Given the description of an element on the screen output the (x, y) to click on. 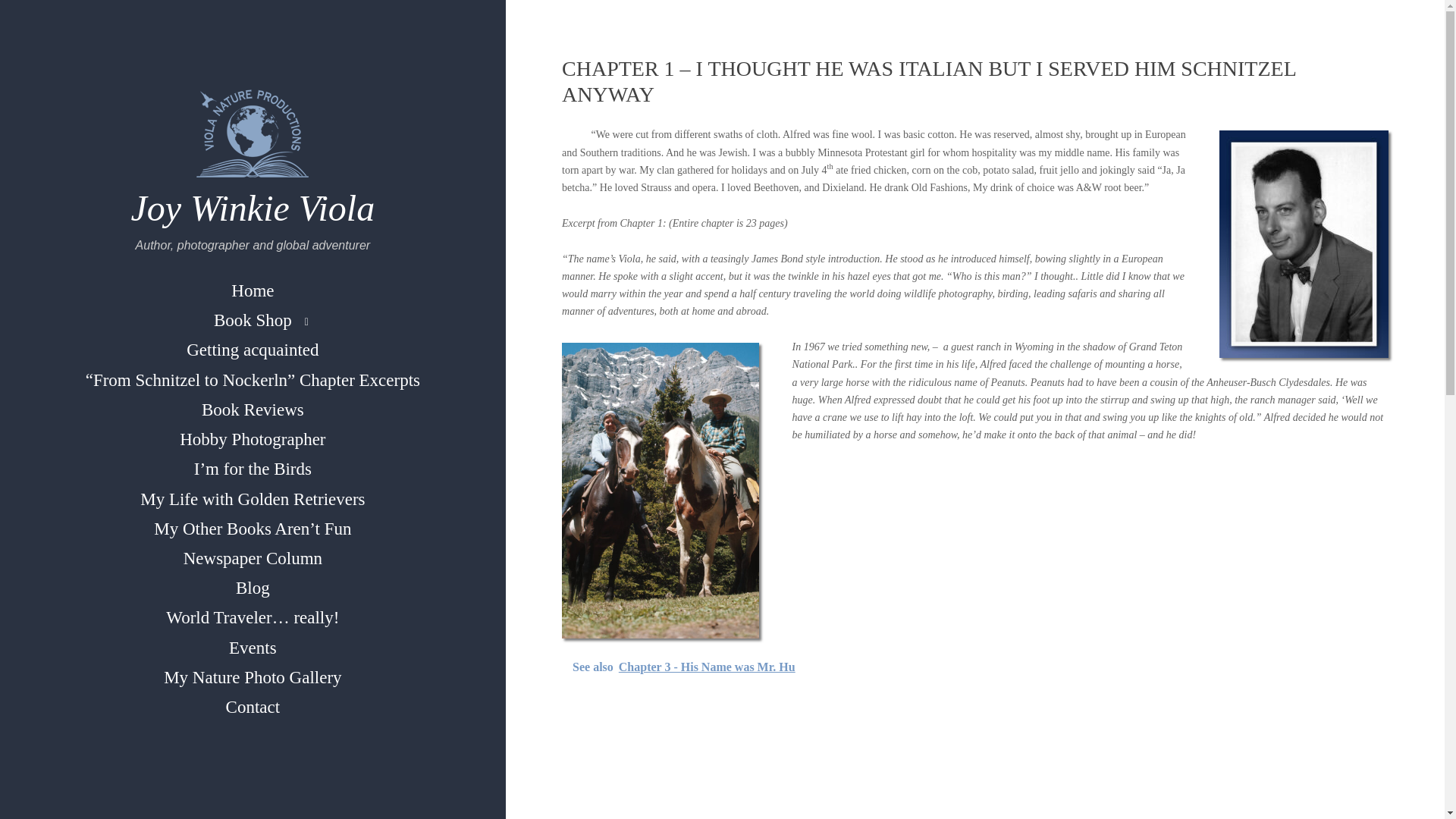
See also  Chapter 3 - His Name was Mr. Hu (975, 667)
Blog (253, 587)
Newspaper Column (252, 558)
Book Reviews (252, 409)
Getting acquainted (252, 349)
My Life with Golden Retrievers (252, 499)
Joy Winkie Viola (253, 208)
Book Shop (253, 320)
Events (252, 647)
Contact (253, 706)
Home (252, 290)
Hobby Photographer (252, 439)
My Nature Photo Gallery (252, 677)
